Given the description of an element on the screen output the (x, y) to click on. 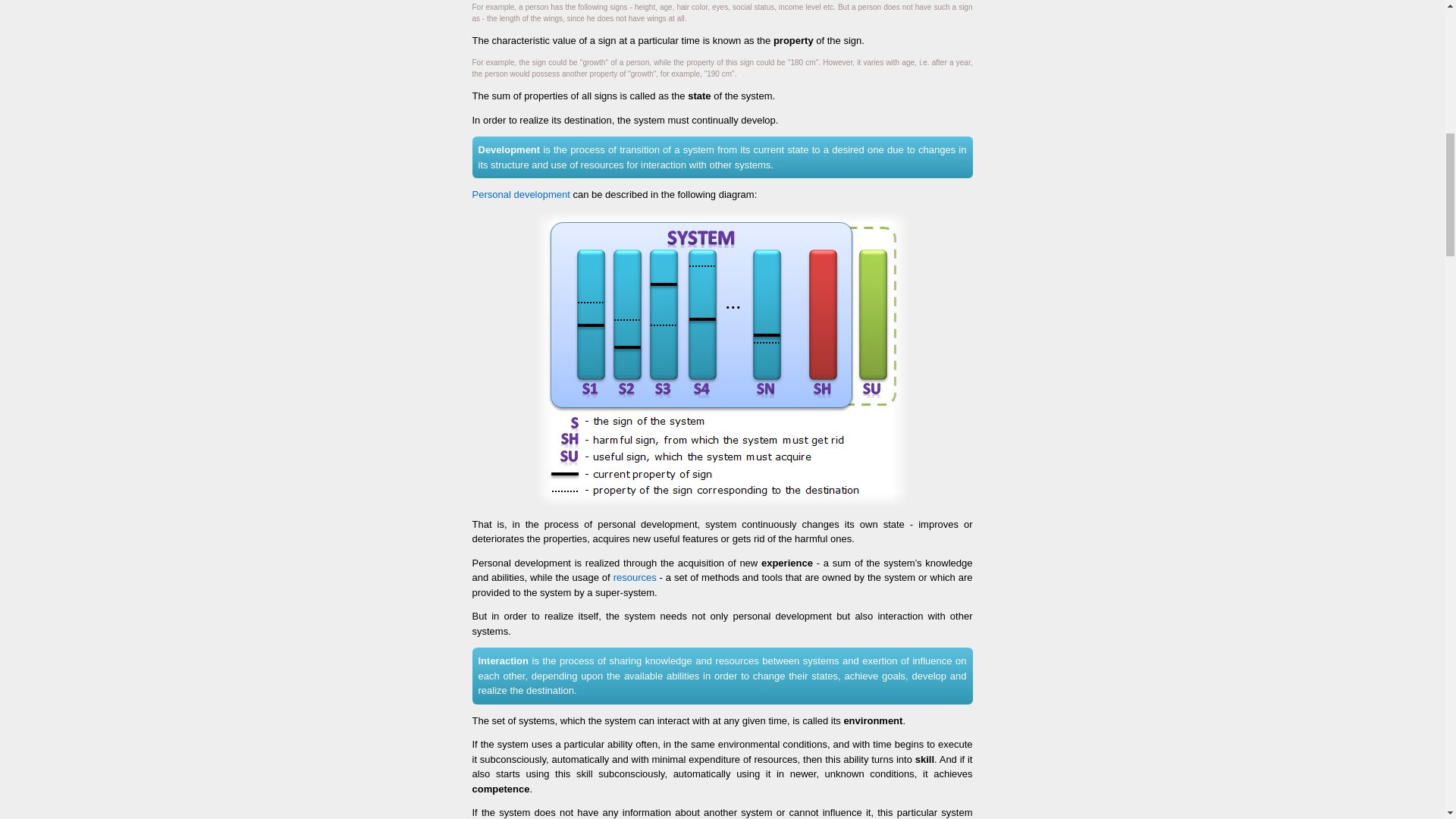
Personal development (722, 357)
